Given the description of an element on the screen output the (x, y) to click on. 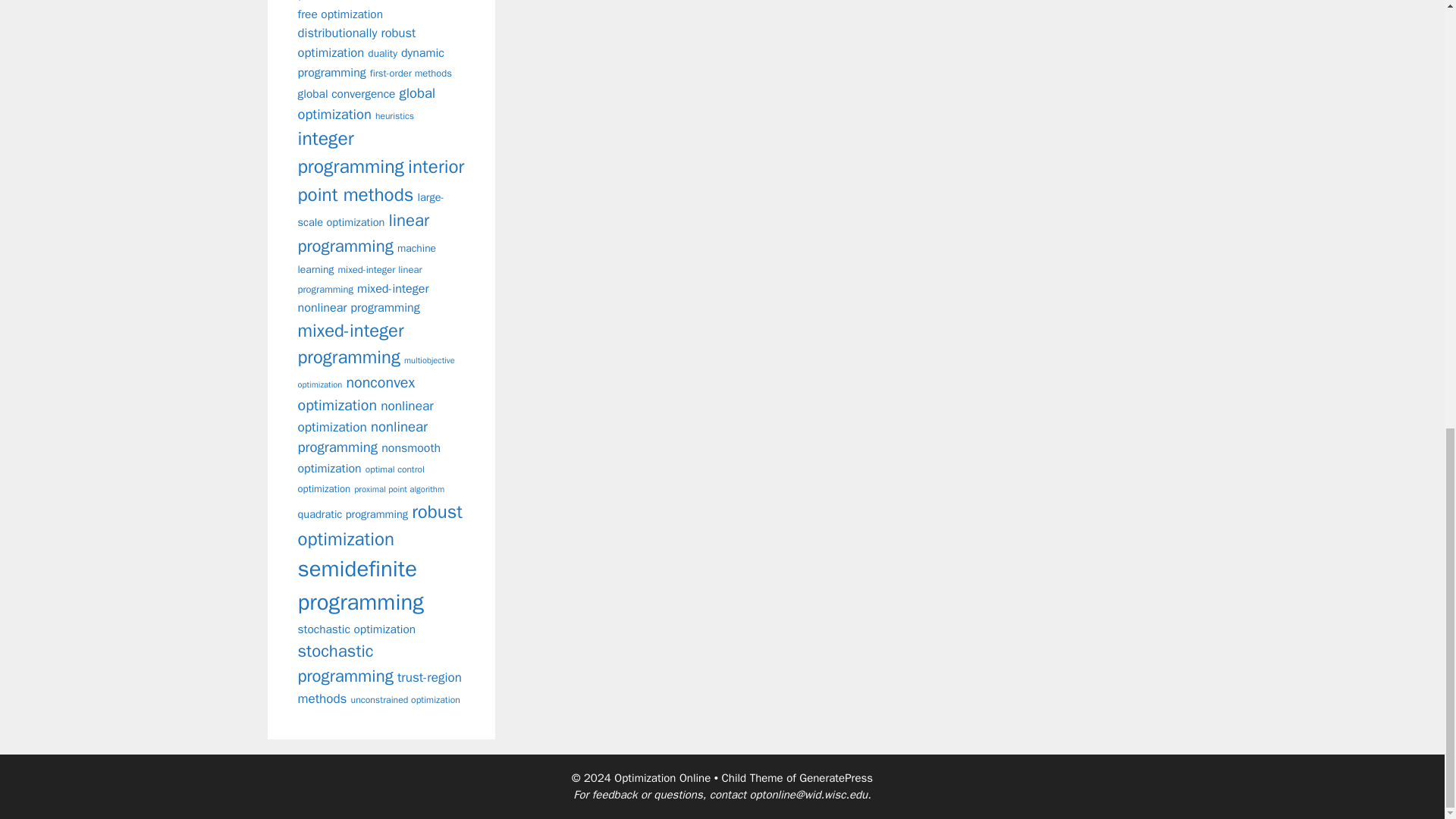
cutting planes (372, 1)
derivative-free optimization (378, 11)
decomposition (375, 0)
distributionally robust optimization (355, 42)
